Given the description of an element on the screen output the (x, y) to click on. 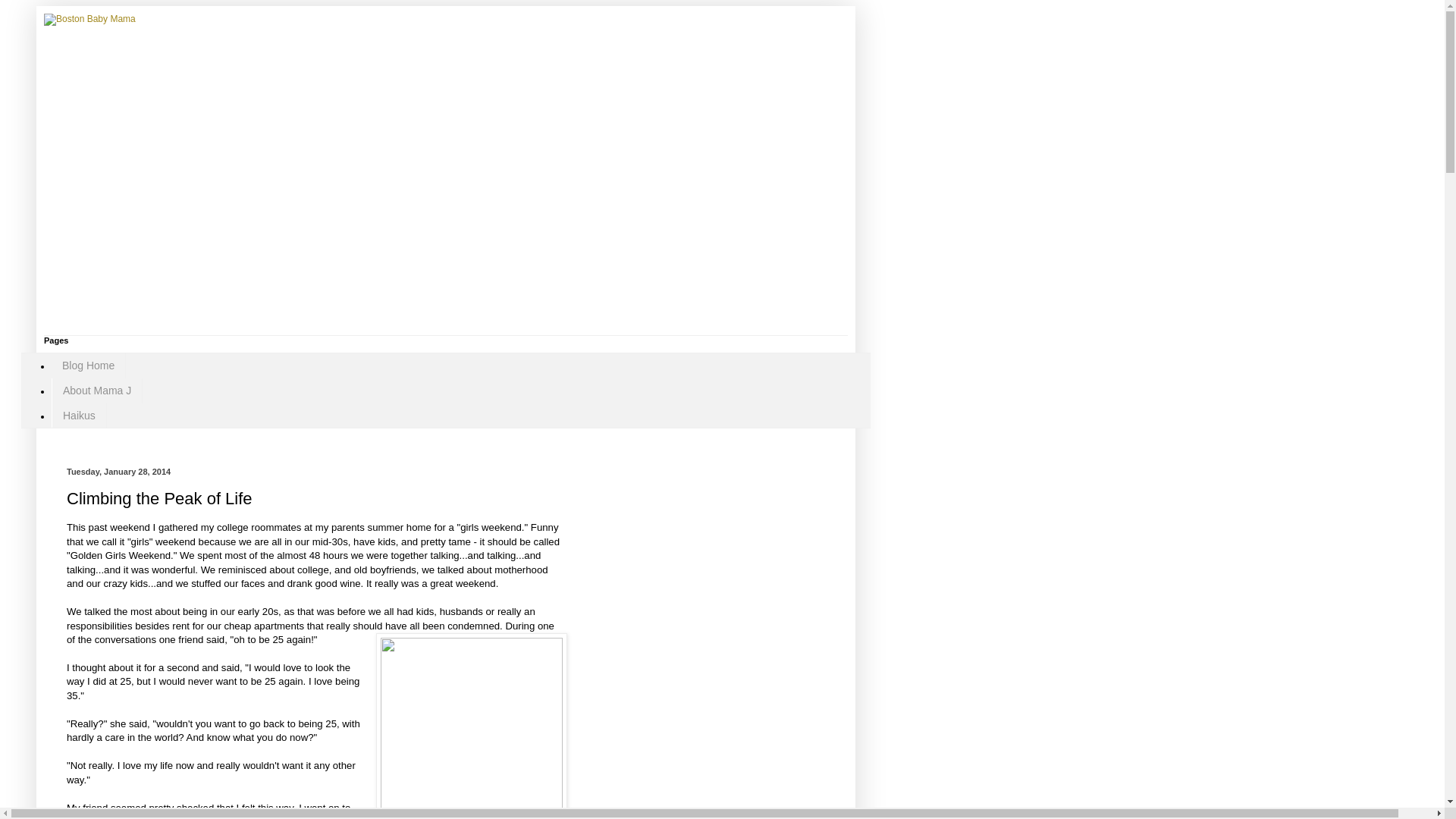
About Mama J (96, 390)
Haikus (78, 415)
Blog Home (87, 365)
